Given the description of an element on the screen output the (x, y) to click on. 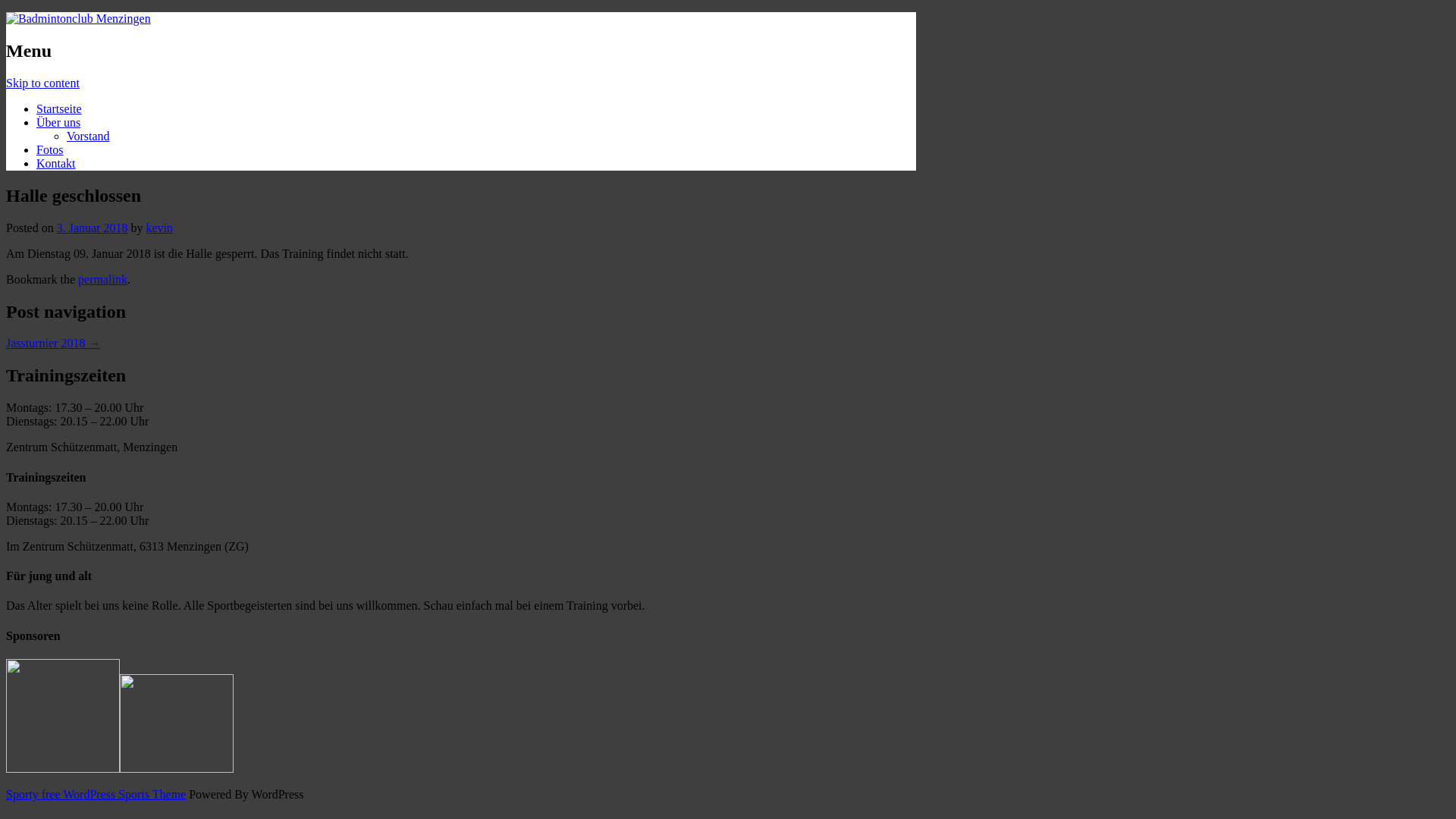
Sporty free WordPress Sports Theme Element type: text (95, 793)
Vorstand Element type: text (87, 135)
kevin Element type: text (158, 227)
Startseite Element type: text (58, 108)
3. Januar 2018 Element type: text (92, 227)
Fotos Element type: text (49, 149)
Kontakt Element type: text (55, 162)
Badmintonclub Menzingen Element type: hover (78, 18)
Skip to content Element type: text (42, 82)
permalink Element type: text (102, 279)
